Given the description of an element on the screen output the (x, y) to click on. 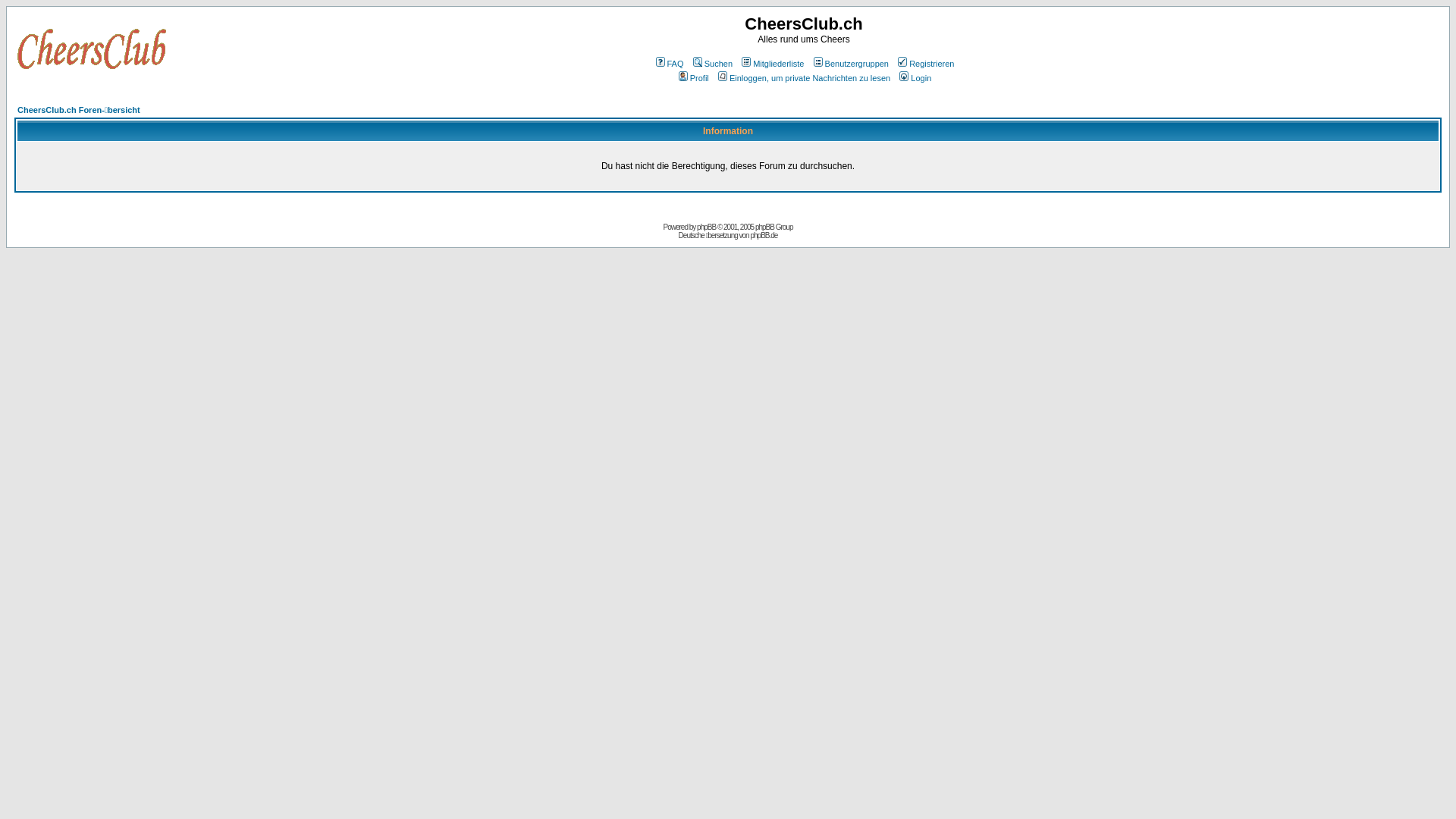
phpBB.de Element type: text (763, 235)
Benutzergruppen Element type: text (849, 63)
FAQ Element type: text (668, 63)
Mitgliederliste Element type: text (771, 63)
Registrieren Element type: text (924, 63)
Einloggen, um private Nachrichten zu lesen Element type: text (802, 77)
Profil Element type: text (692, 77)
Login Element type: text (914, 77)
phpBB Element type: text (705, 226)
Suchen Element type: text (711, 63)
